Given the description of an element on the screen output the (x, y) to click on. 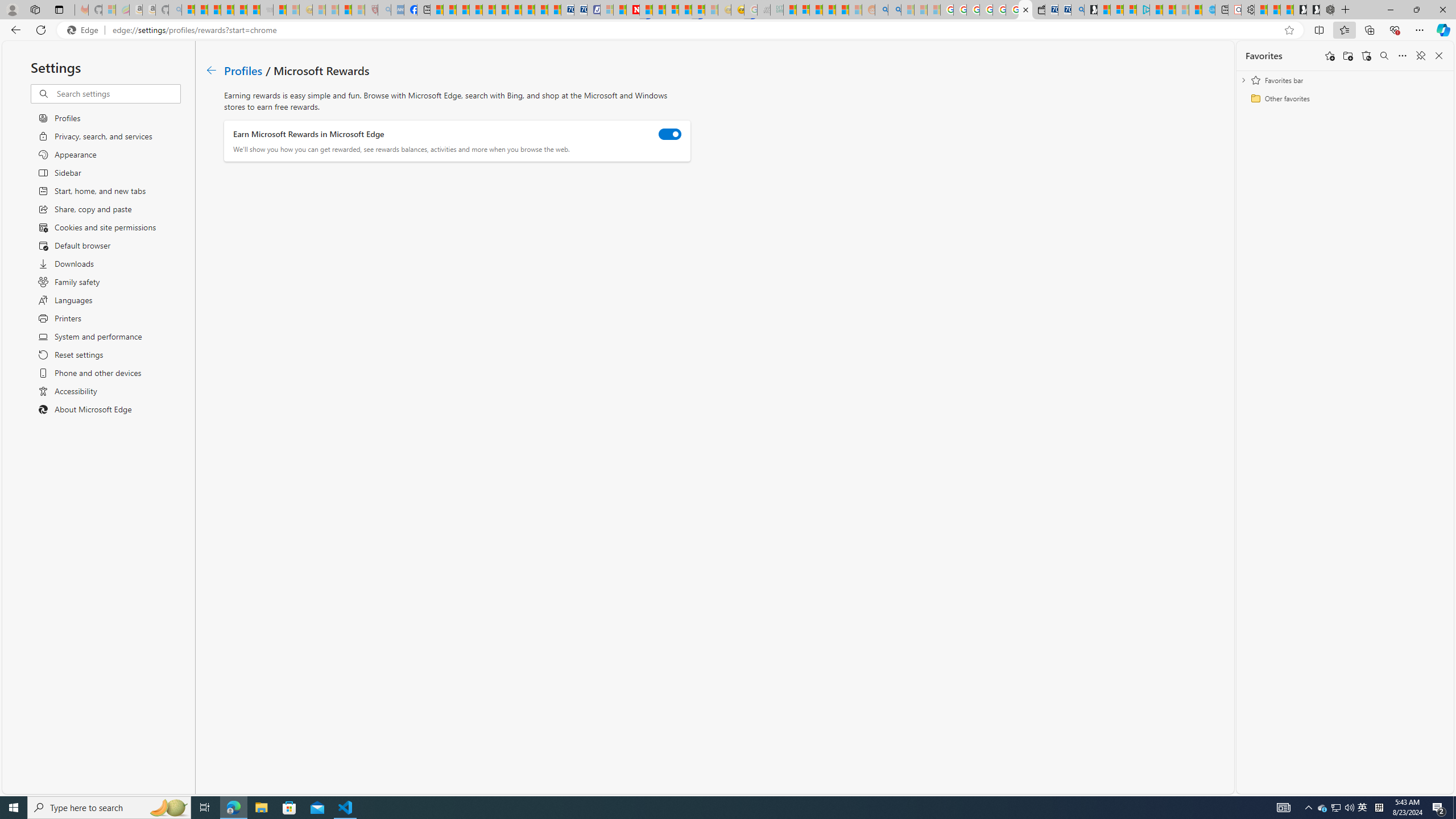
Science - MSN (344, 9)
Robert H. Shmerling, MD - Harvard Health - Sleeping (370, 9)
The Weather Channel - MSN (213, 9)
Cheap Hotels - Save70.com (580, 9)
